Given the description of an element on the screen output the (x, y) to click on. 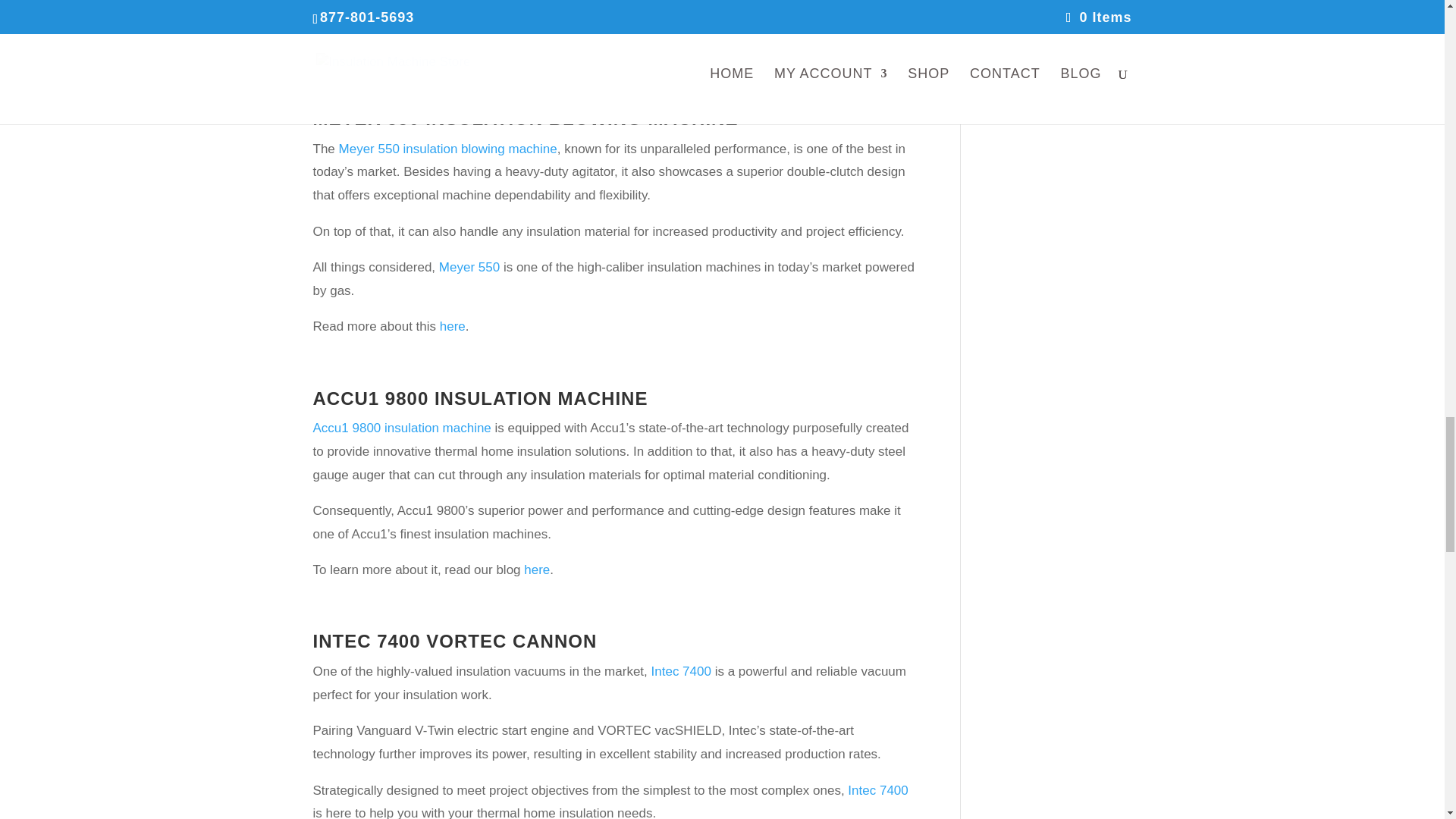
ACCU1 9800 INSULATION MACHINE (480, 398)
MEYER 550 INSULATION BLOWING MACHINE (525, 118)
Meyer 550 (469, 267)
Meyer 550 insulation blowing machine (448, 148)
Intec 50013-00 Wireless FiberForce with Tall Hopper (610, 9)
here (537, 569)
here (452, 326)
here (585, 47)
Accu1 9800 insulation machine (401, 427)
INTEC 7400 VORTEC CANNON (454, 640)
